Given the description of an element on the screen output the (x, y) to click on. 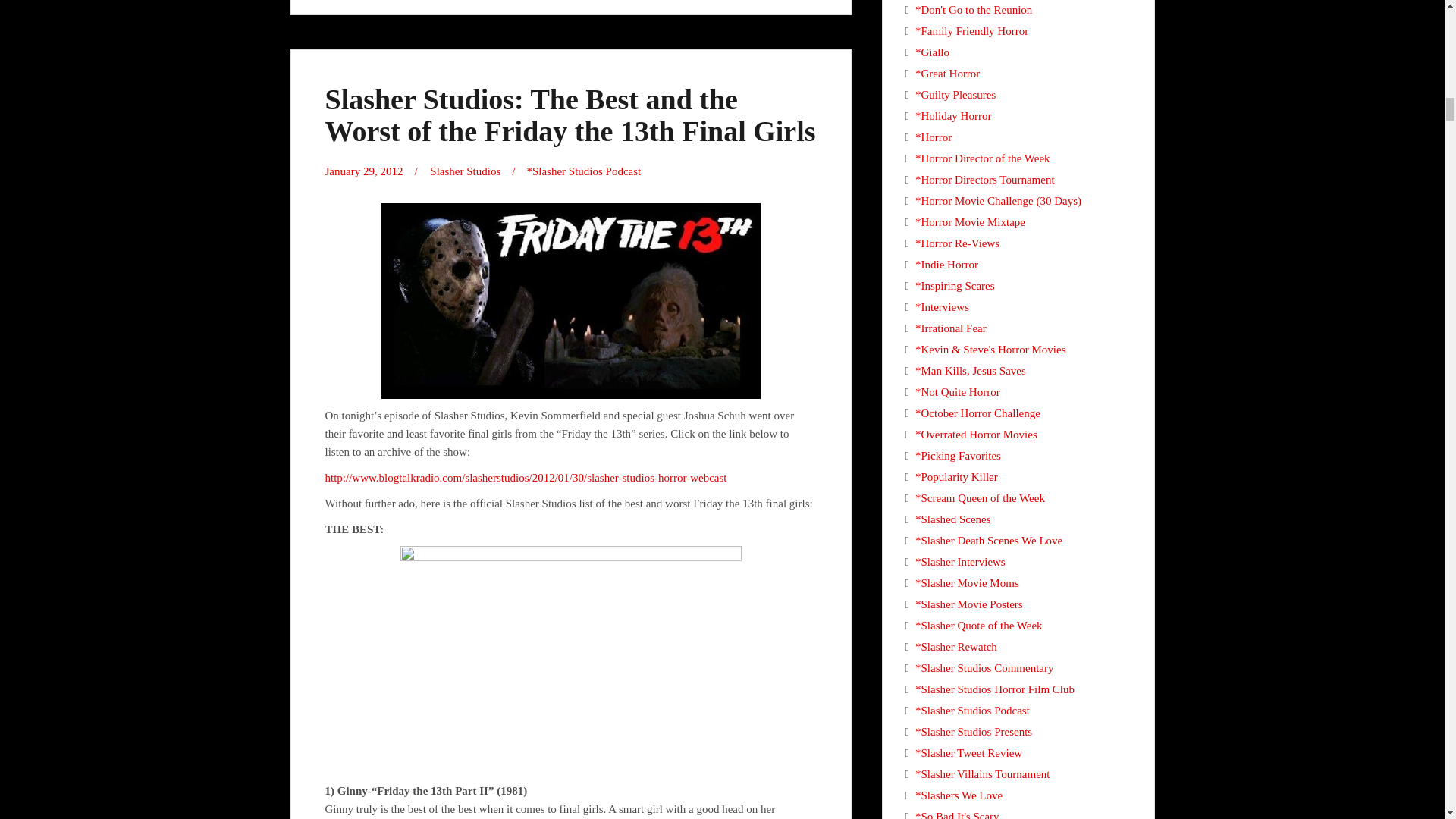
ginny (570, 659)
